Given the description of an element on the screen output the (x, y) to click on. 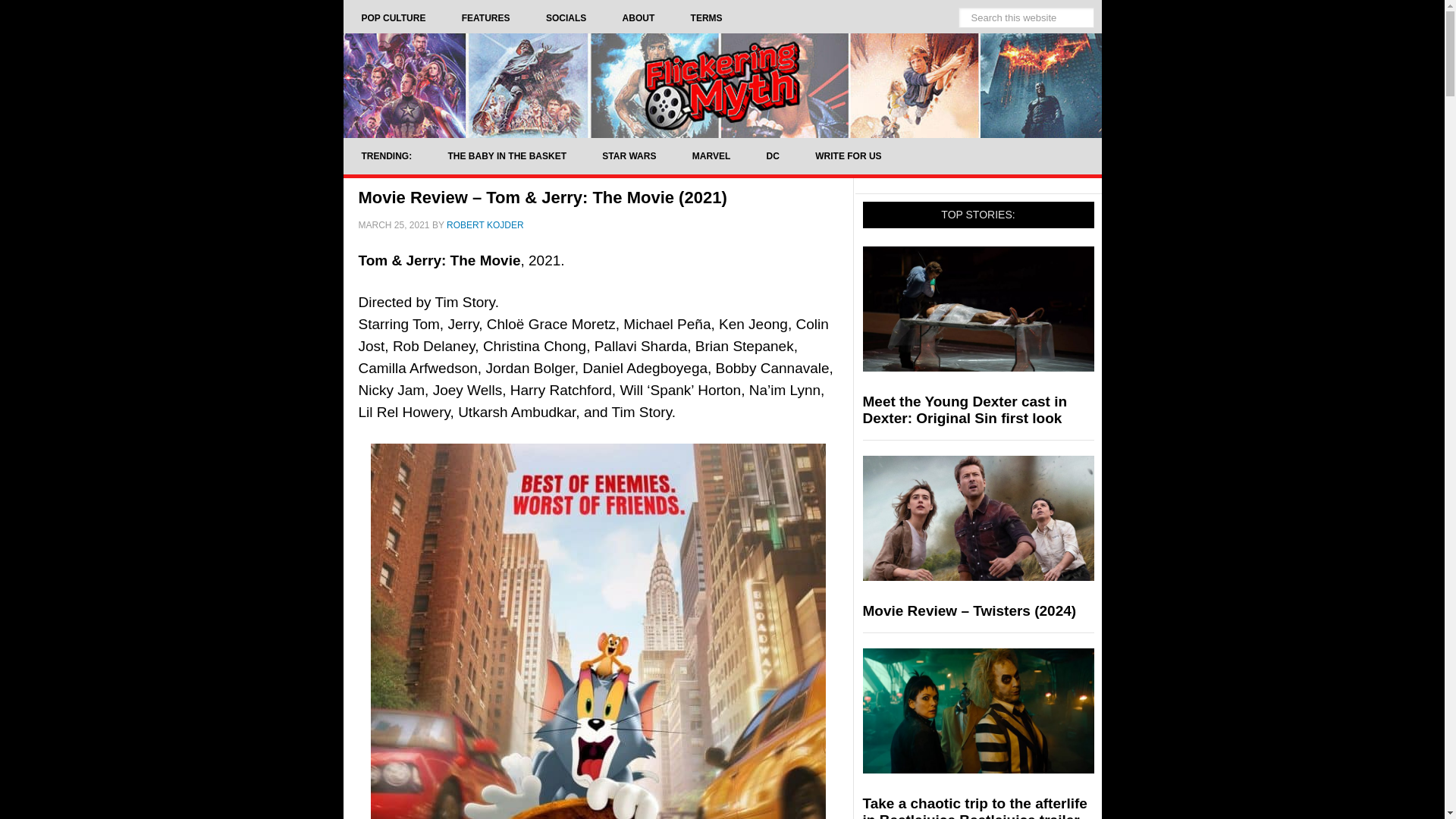
About Flickering Myth (638, 18)
Pop Culture (393, 18)
ROBERT KOJDER (485, 225)
FLICKERING MYTH (721, 85)
TRENDING: (385, 156)
Features (486, 18)
SOCIALS (565, 18)
THE BABY IN THE BASKET (507, 156)
POP CULTURE (393, 18)
MARVEL (711, 156)
ABOUT (638, 18)
DC (772, 156)
STAR WARS (628, 156)
